Given the description of an element on the screen output the (x, y) to click on. 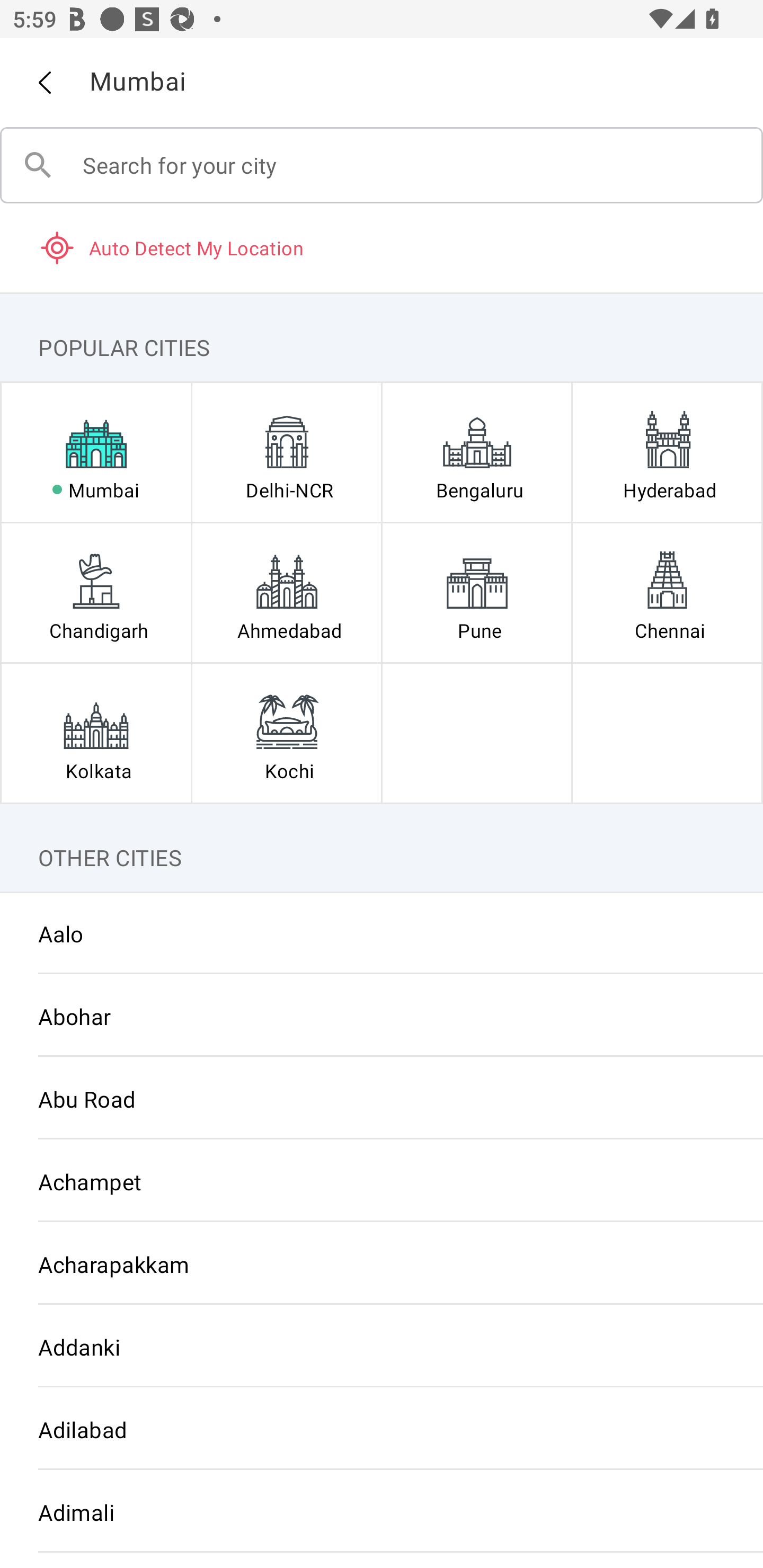
Back (44, 82)
Search for your city (381, 165)
Auto Detect My Location (381, 247)
Mumbai (95, 452)
Delhi-NCR (286, 452)
Bengaluru (476, 452)
Hyderabad (667, 452)
Chandigarh (95, 592)
Ahmedabad (286, 592)
Pune (476, 592)
Chennai (667, 592)
Kolkata (95, 732)
Kochi (286, 732)
Aalo (381, 933)
Abohar (381, 1015)
Abu Road (381, 1098)
Achampet (381, 1181)
Acharapakkam (381, 1263)
Addanki (381, 1346)
Adilabad (381, 1429)
Adimali (381, 1512)
